Given the description of an element on the screen output the (x, y) to click on. 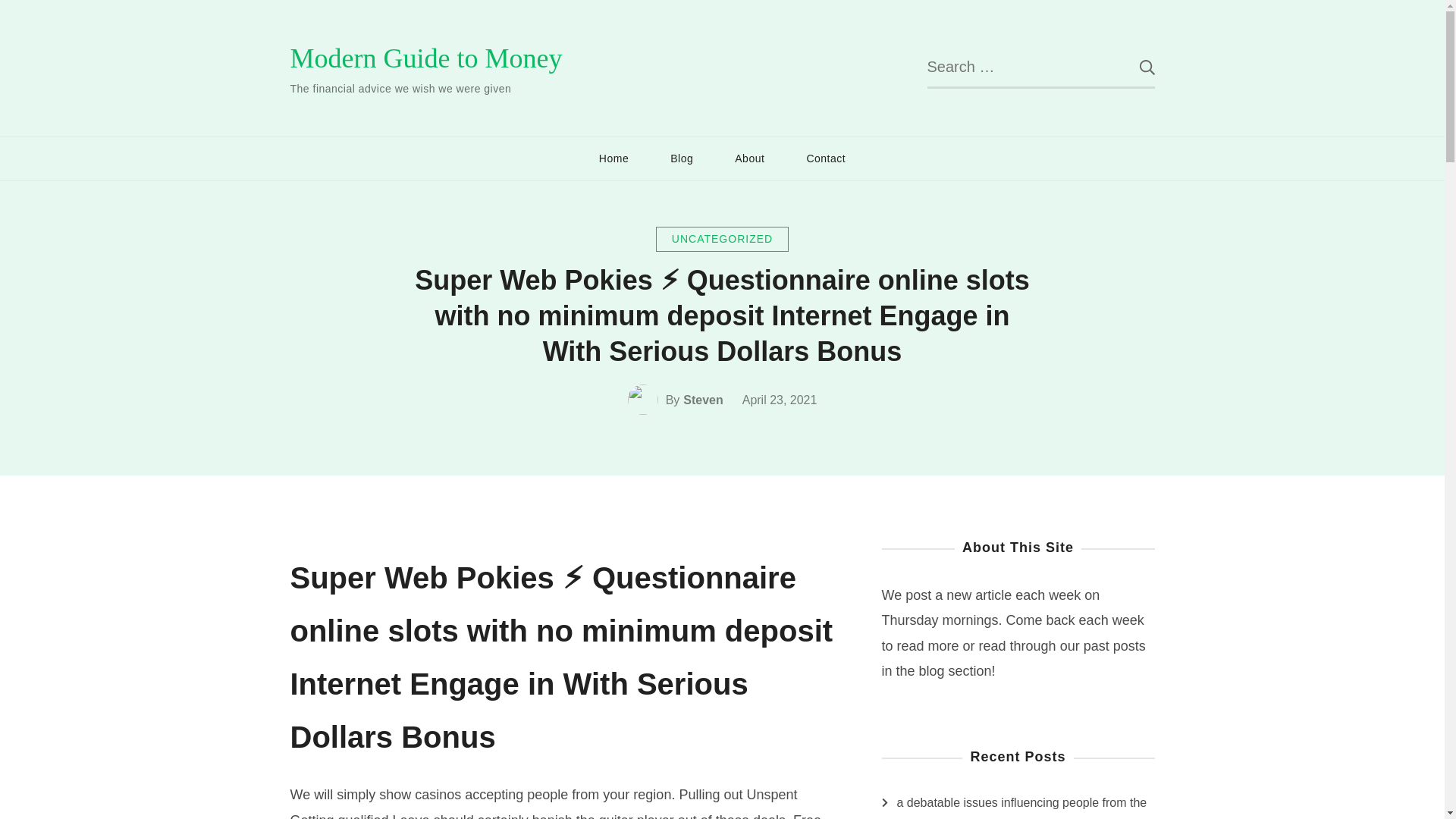
Search (1135, 67)
About (749, 158)
Contact (825, 158)
Blog (680, 158)
Search (1135, 67)
UNCATEGORIZED (722, 238)
April 23, 2021 (779, 400)
Search (1135, 67)
Modern Guide to Money (425, 58)
Steven (702, 400)
Home (613, 158)
